Given the description of an element on the screen output the (x, y) to click on. 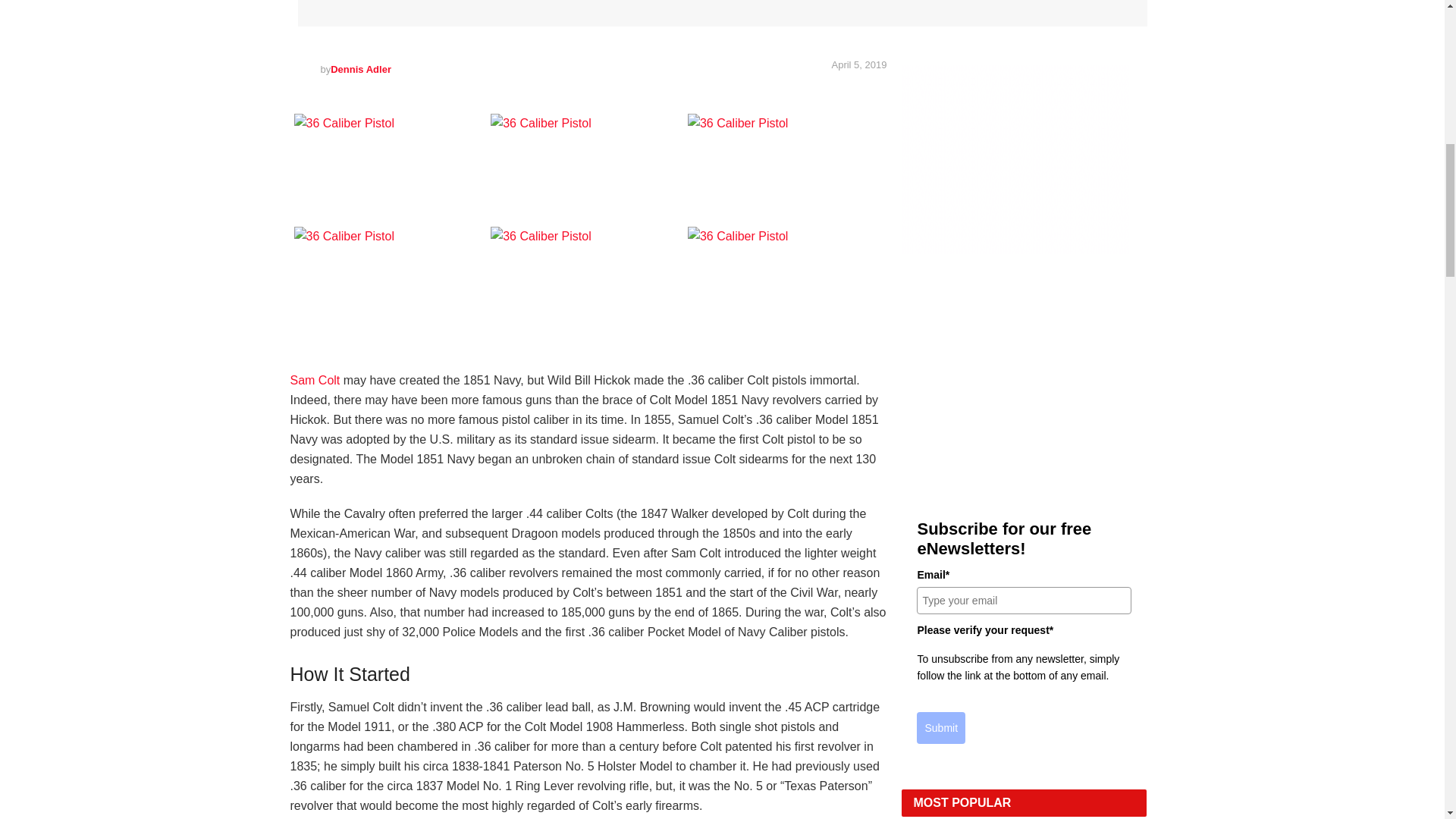
3rd party ad content (1024, 379)
3rd party ad content (1015, 158)
